Given the description of an element on the screen output the (x, y) to click on. 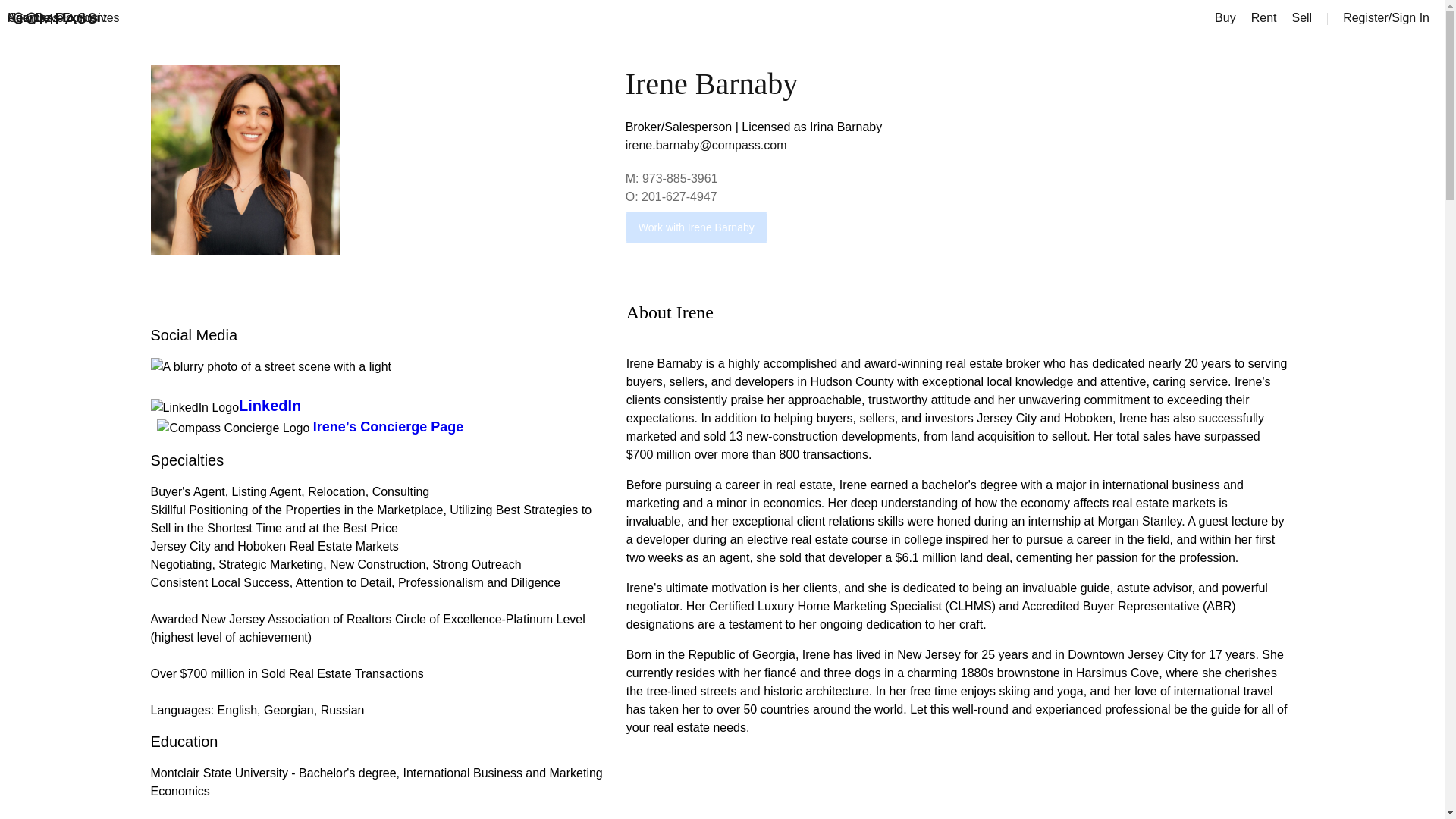
O: 201-627-4947 (671, 200)
Sell (1301, 18)
M: 973-885-3961 (671, 181)
Buy (1225, 18)
Rent (1263, 18)
LinkedIn (269, 406)
Work with Irene Barnaby (696, 227)
